Given the description of an element on the screen output the (x, y) to click on. 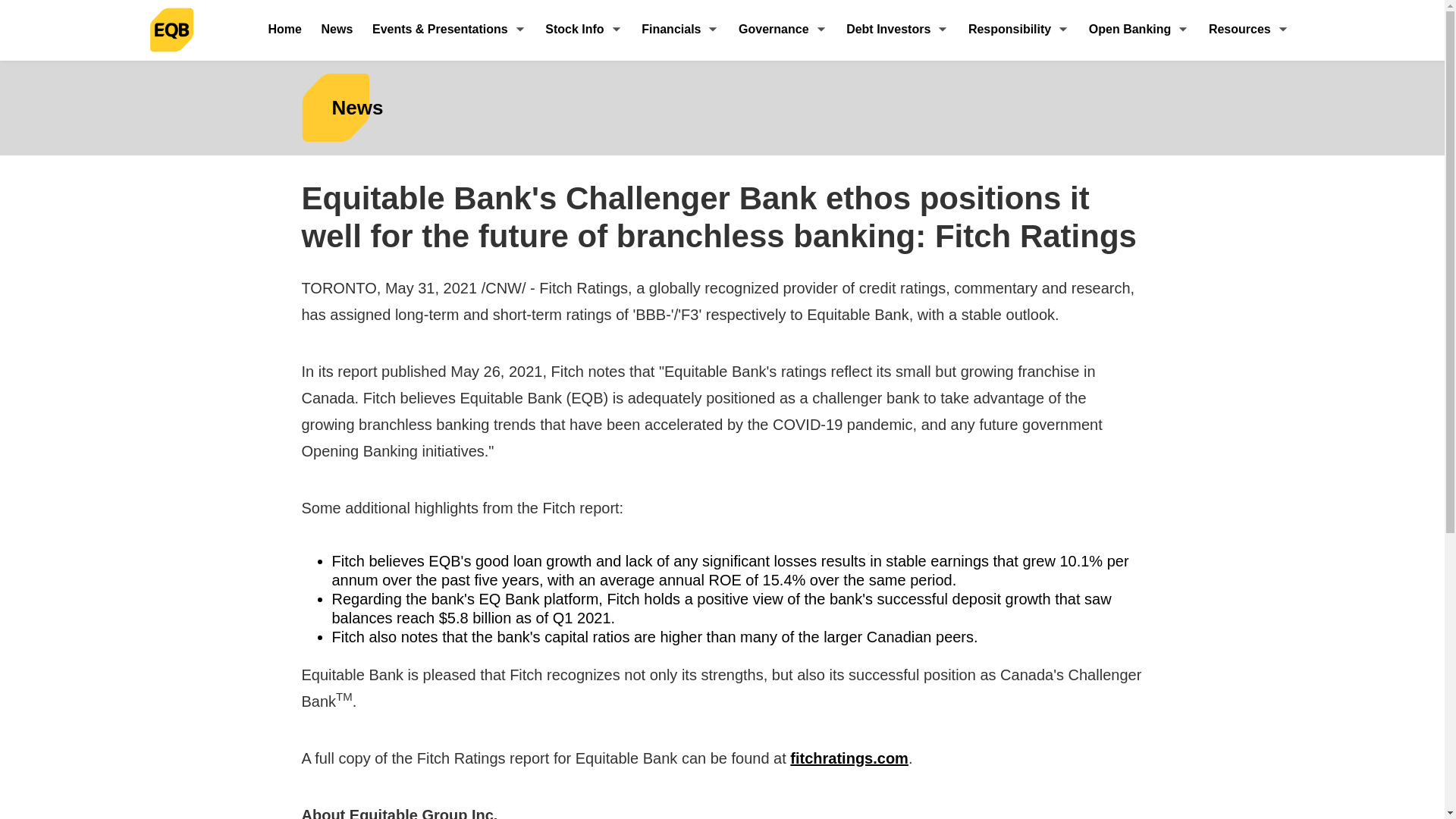
Debt Investors (896, 30)
Open Banking (1138, 30)
Skip to main content (16, 7)
Financials (680, 30)
EQ Bank (172, 29)
Responsibility (1018, 30)
Stock Info (583, 30)
Governance (782, 30)
